Given the description of an element on the screen output the (x, y) to click on. 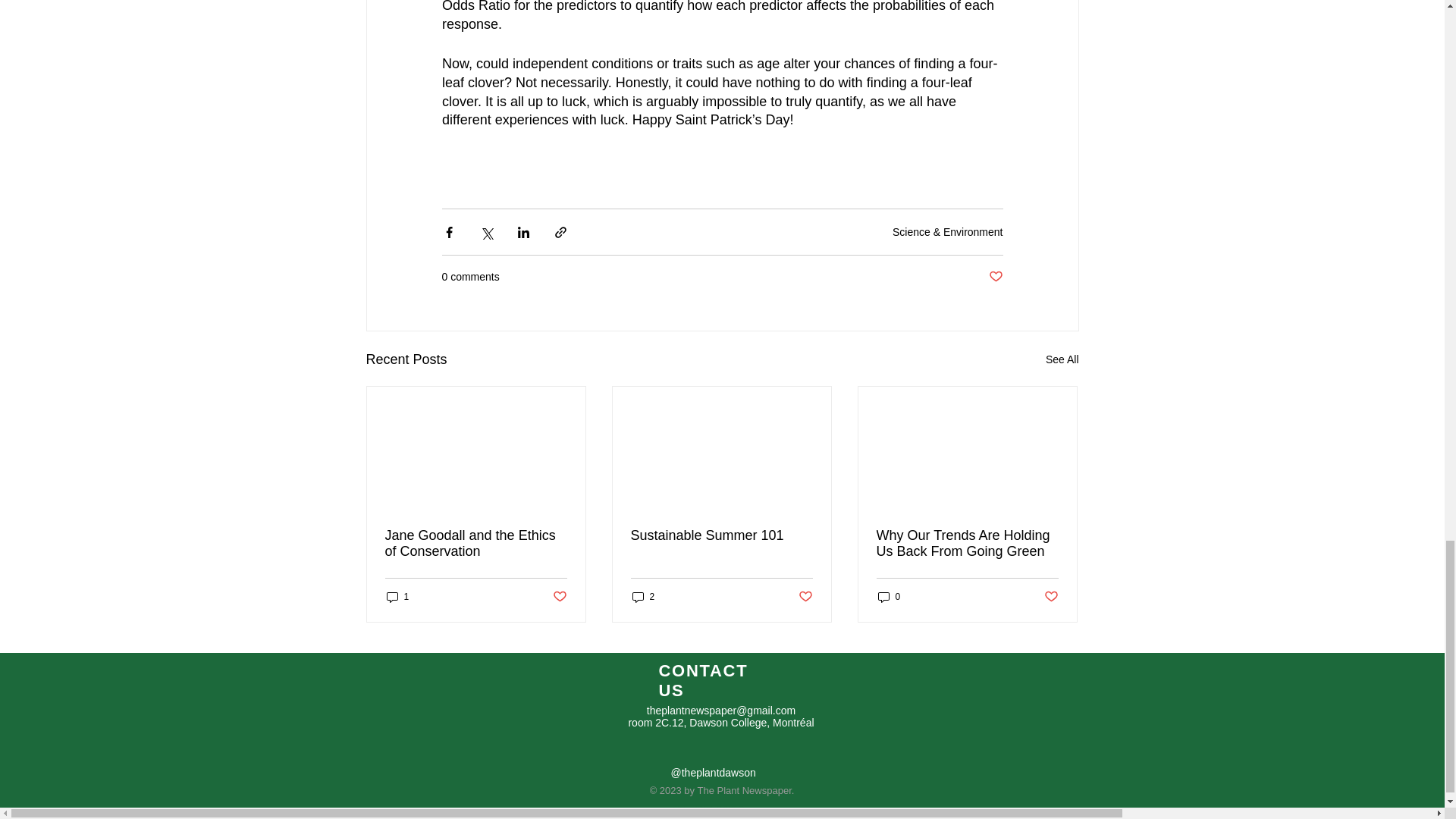
2 (643, 596)
Post not marked as liked (558, 596)
Post not marked as liked (1050, 596)
Post not marked as liked (804, 596)
Why Our Trends Are Holding Us Back From Going Green (967, 543)
See All (1061, 359)
1 (397, 596)
Jane Goodall and the Ethics of Conservation (476, 543)
Post not marked as liked (995, 277)
Sustainable Summer 101 (721, 535)
